Given the description of an element on the screen output the (x, y) to click on. 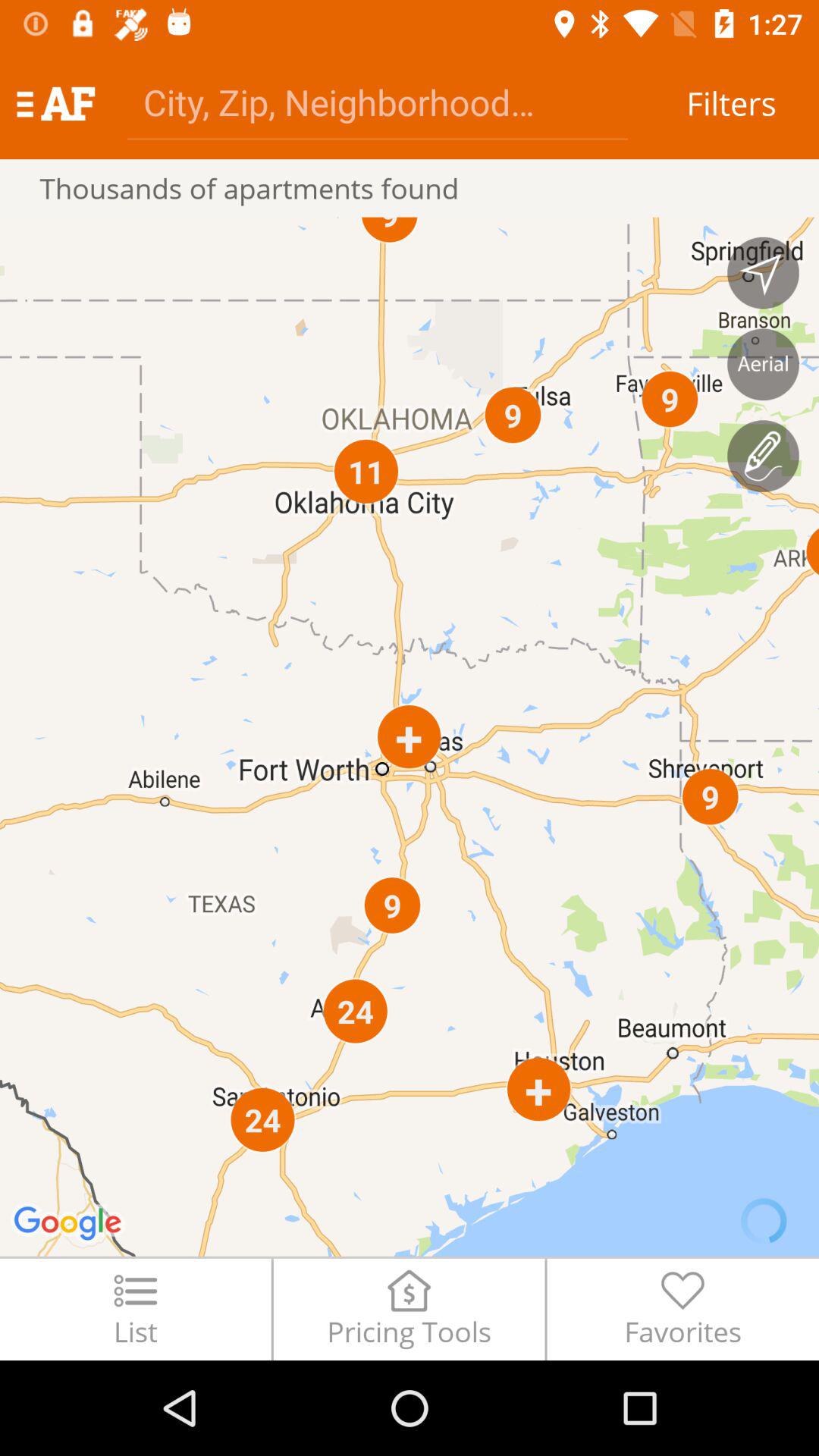
turn off the item next to filters icon (377, 102)
